Given the description of an element on the screen output the (x, y) to click on. 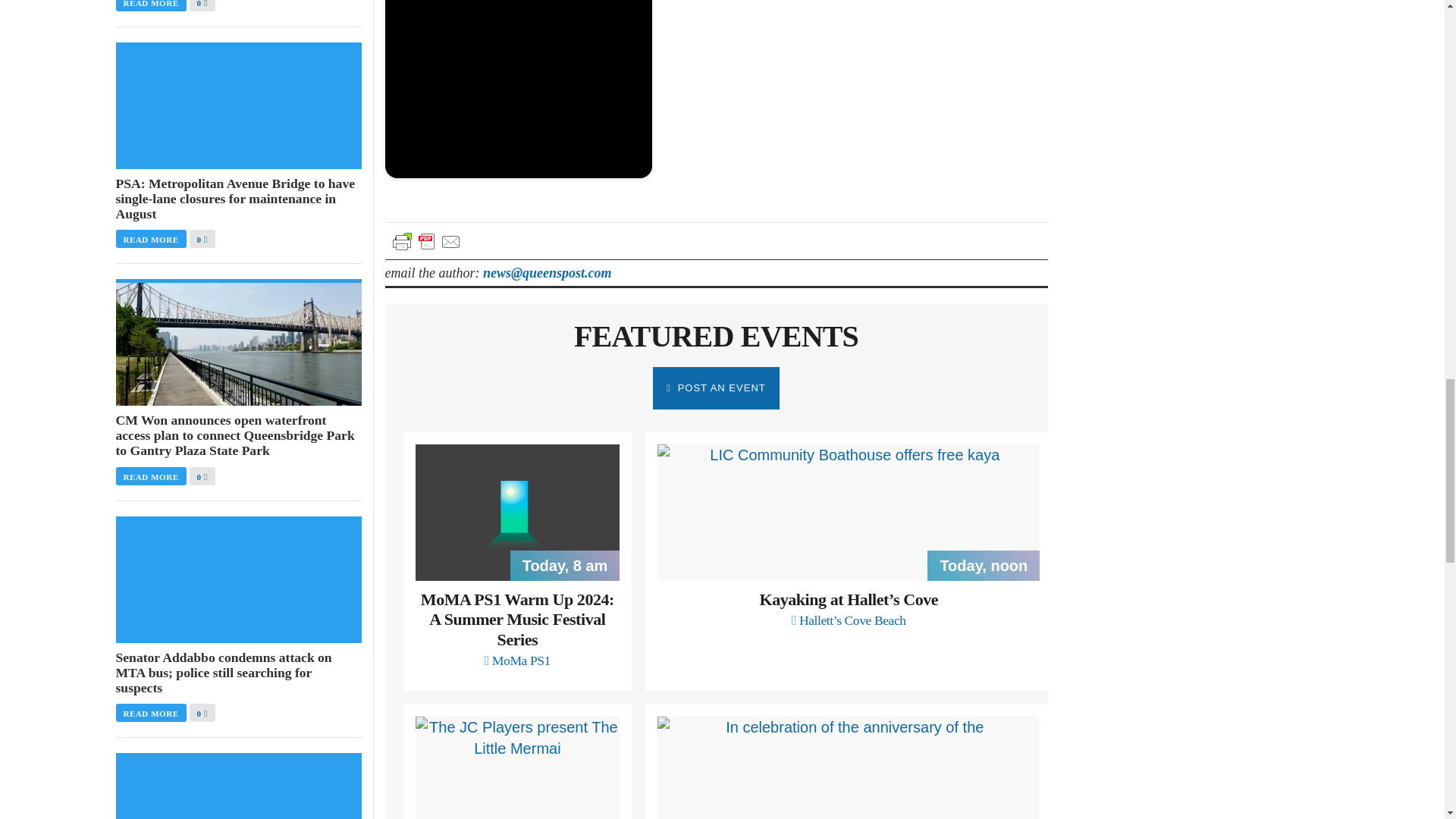
POST AN EVENT (715, 387)
FEATURED EVENTS (716, 335)
